Given the description of an element on the screen output the (x, y) to click on. 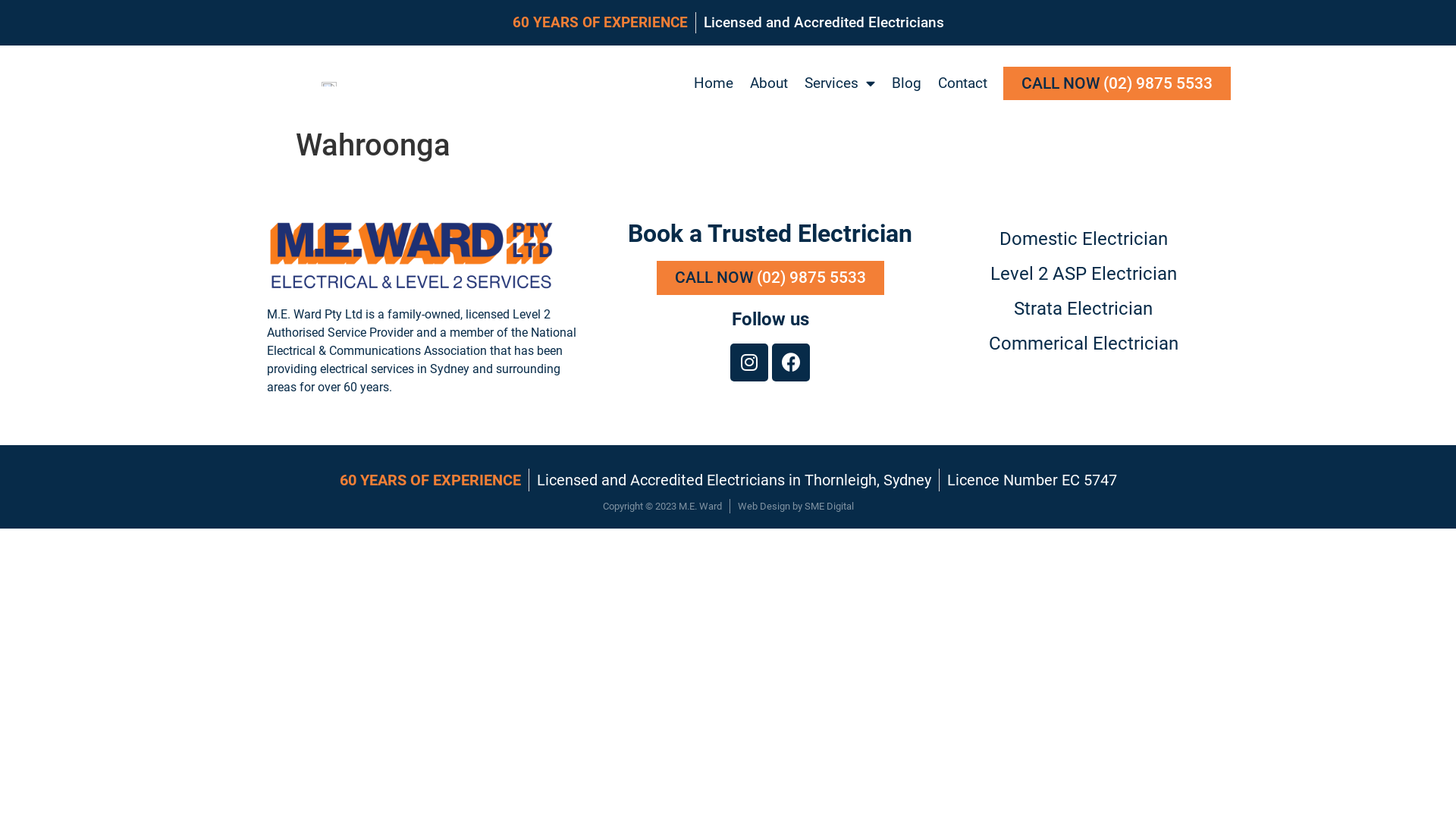
Commerical Electrician Element type: text (1083, 343)
Home Element type: text (713, 82)
Web Design by SME Digital Element type: text (795, 506)
About Element type: text (768, 82)
Domestic Electrician Element type: text (1083, 238)
Contact Element type: text (962, 82)
CALL NOW (02) 9875 5533 Element type: text (1116, 83)
Level 2 ASP Electrician Element type: text (1083, 273)
Strata Electrician Element type: text (1083, 308)
Blog Element type: text (906, 82)
Services Element type: text (839, 82)
CALL NOW (02) 9875 5533 Element type: text (770, 277)
